Given the description of an element on the screen output the (x, y) to click on. 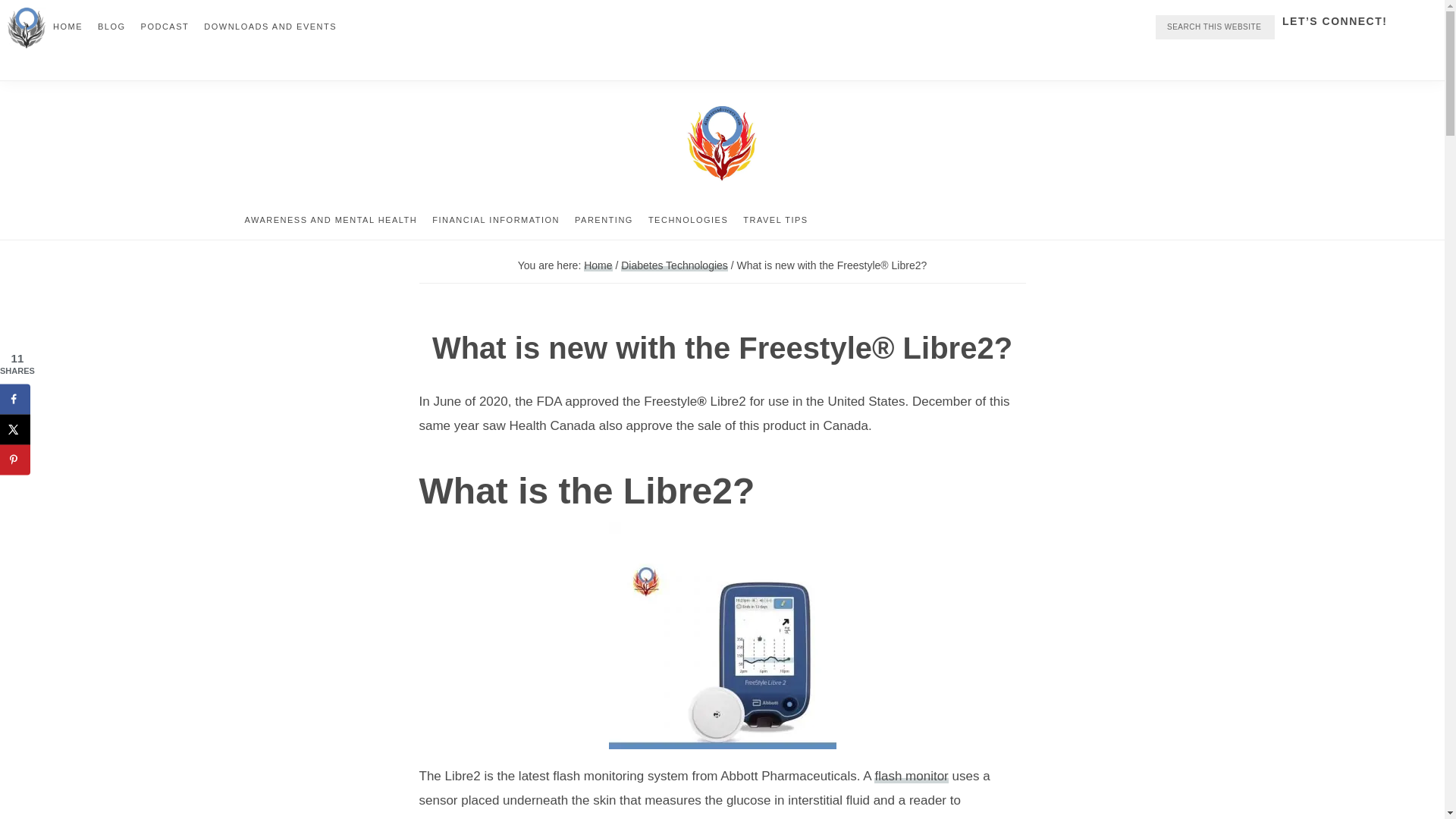
PODCAST (164, 26)
PARENTING (603, 219)
TECHNOLOGIES (687, 219)
TRAVEL TIPS (775, 219)
HOME (67, 26)
BLOG (111, 26)
FINANCIAL INFORMATION (496, 219)
